Given the description of an element on the screen output the (x, y) to click on. 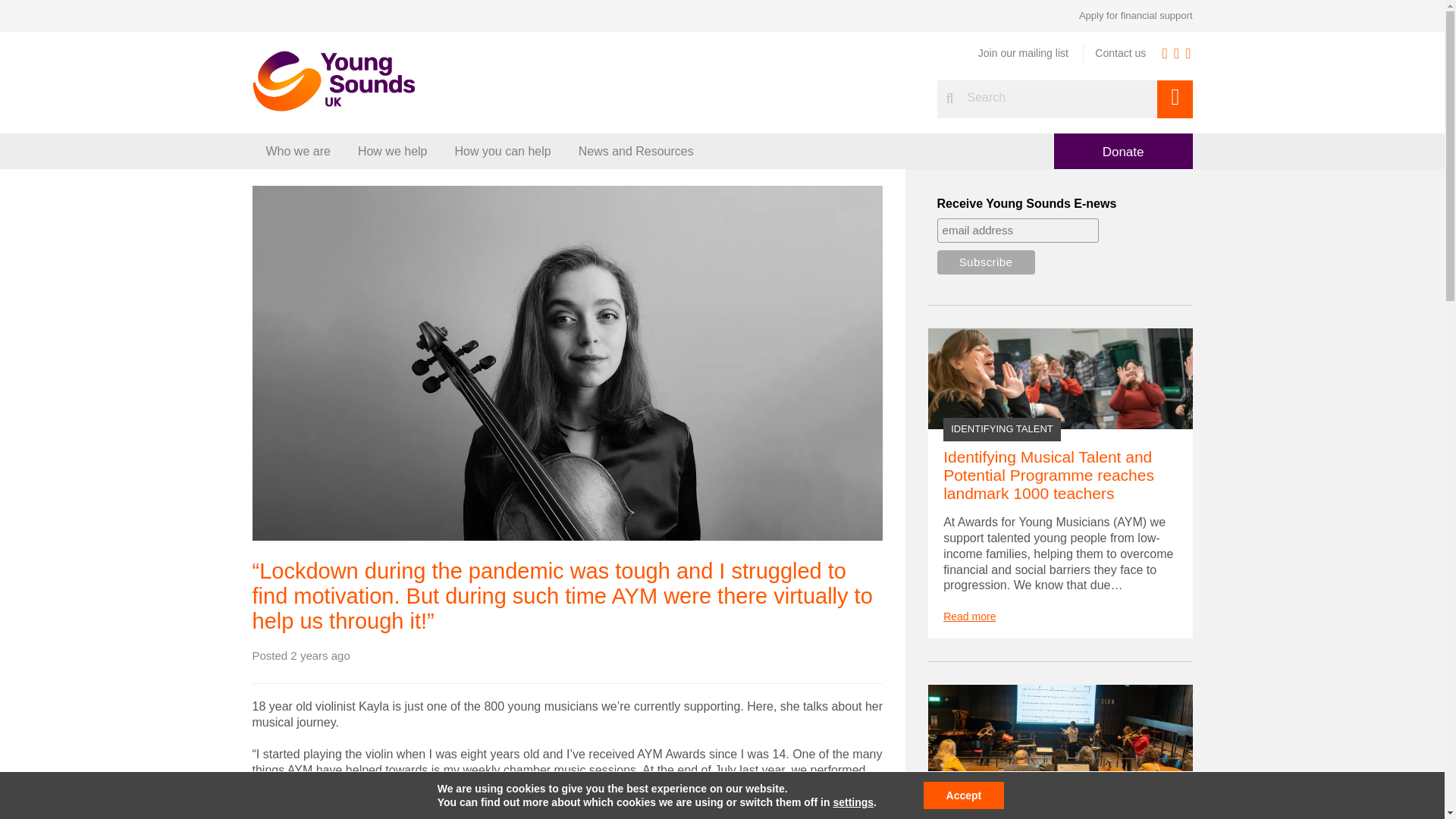
How you can help (502, 151)
Contact us (1119, 53)
Join our mailing list (1023, 53)
How we help (392, 151)
Donate (1123, 150)
Subscribe (986, 262)
Who we are (297, 151)
News and Resources (635, 151)
Apply for financial support (1135, 15)
